Given the description of an element on the screen output the (x, y) to click on. 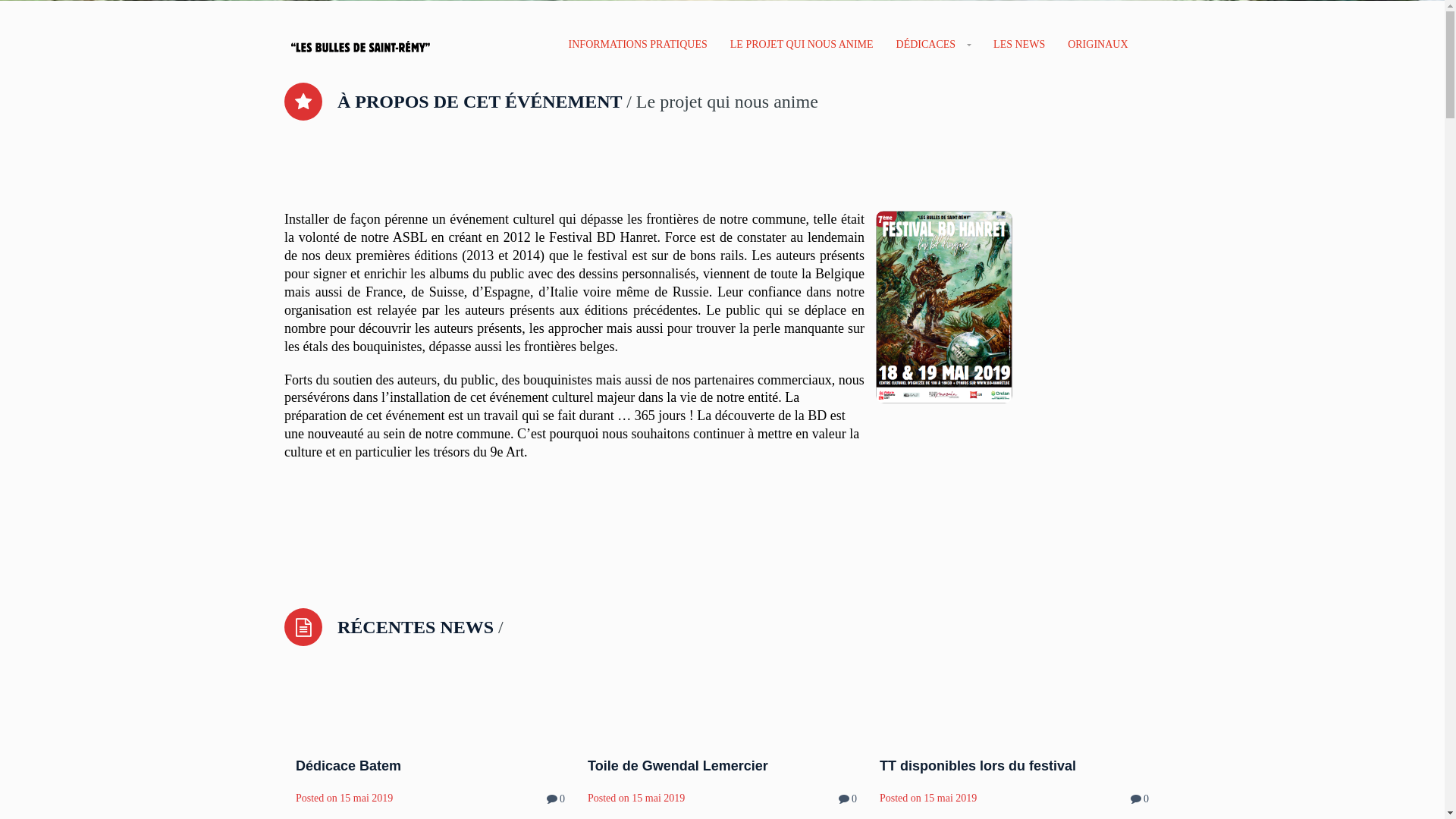
Le festival BD de Hanret Element type: hover (359, 43)
LES NEWS Element type: text (1019, 44)
INFORMATIONS PRATIQUES Element type: text (637, 44)
0 Element type: text (1145, 798)
ORIGINAUX Element type: text (1097, 44)
0 Element type: text (853, 798)
Toile de Gwendal Lemercier Element type: text (677, 765)
LE PROJET QUI NOUS ANIME Element type: text (801, 44)
0 Element type: text (561, 798)
TT disponibles lors du festival Element type: text (977, 765)
